Given the description of an element on the screen output the (x, y) to click on. 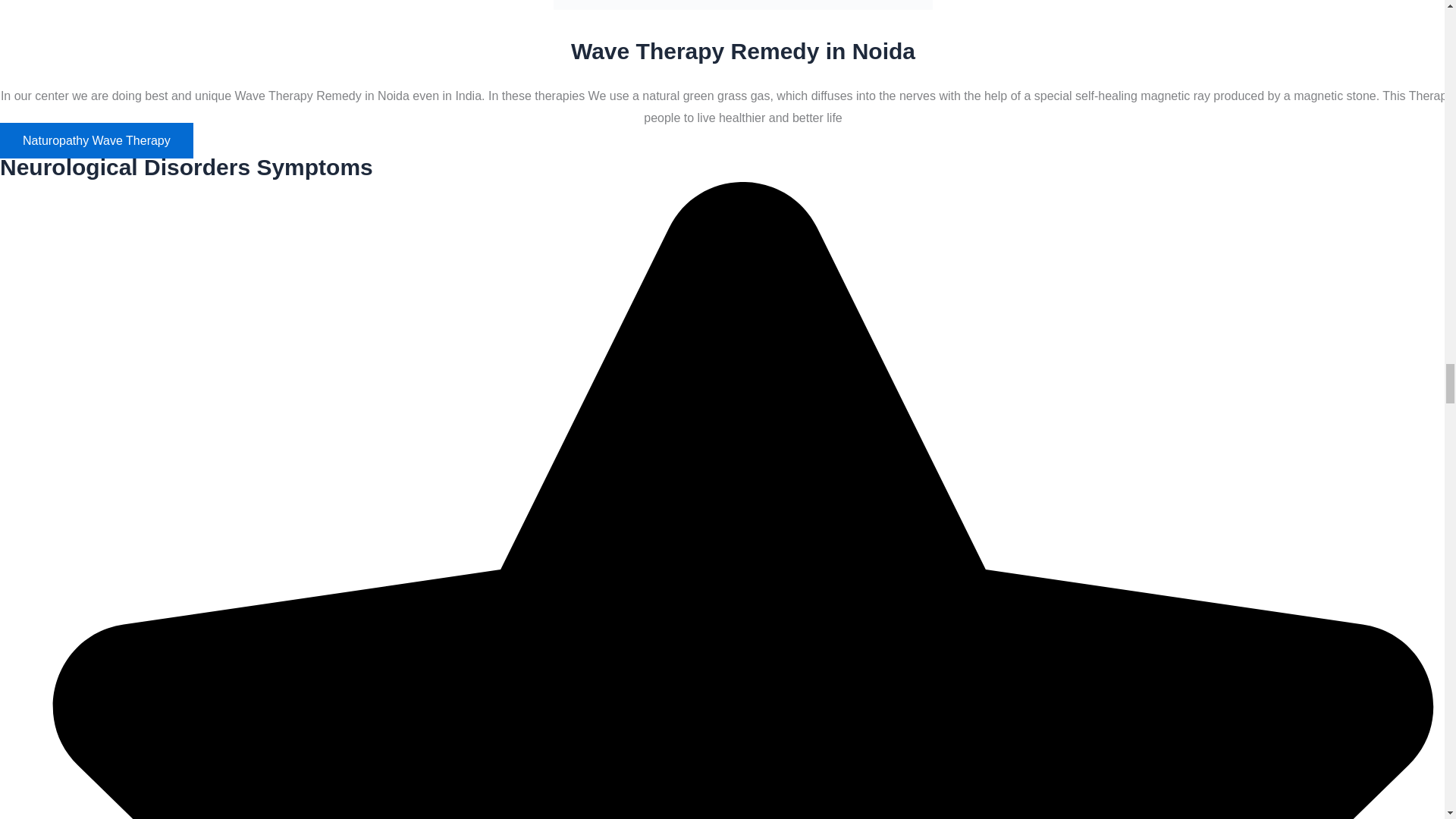
Naturopathy Wave Therapy (96, 140)
